Given the description of an element on the screen output the (x, y) to click on. 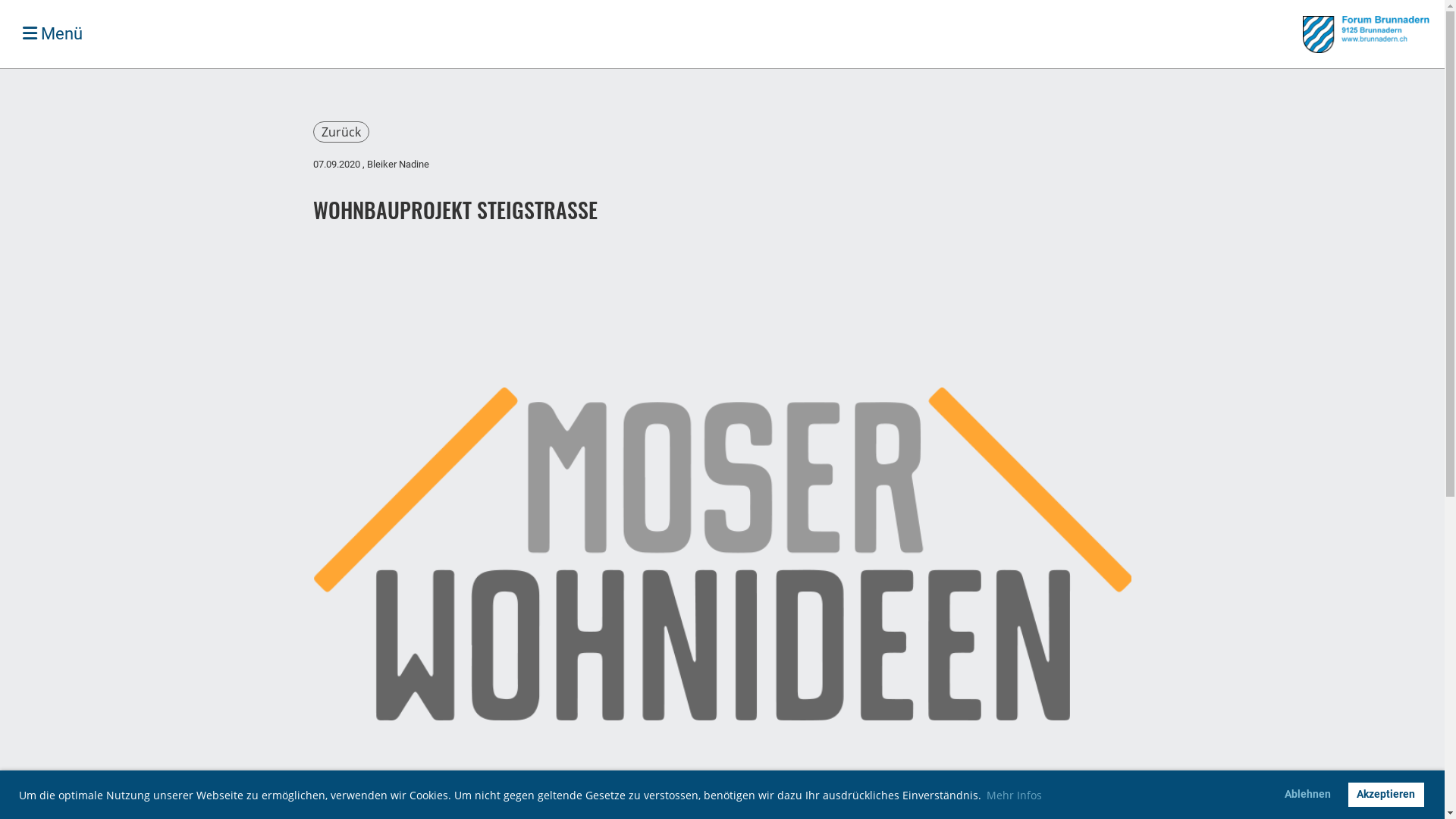
Akzeptieren Element type: text (1385, 794)
Mehr Infos Element type: text (1014, 794)
Ablehnen Element type: text (1307, 794)
